Given the description of an element on the screen output the (x, y) to click on. 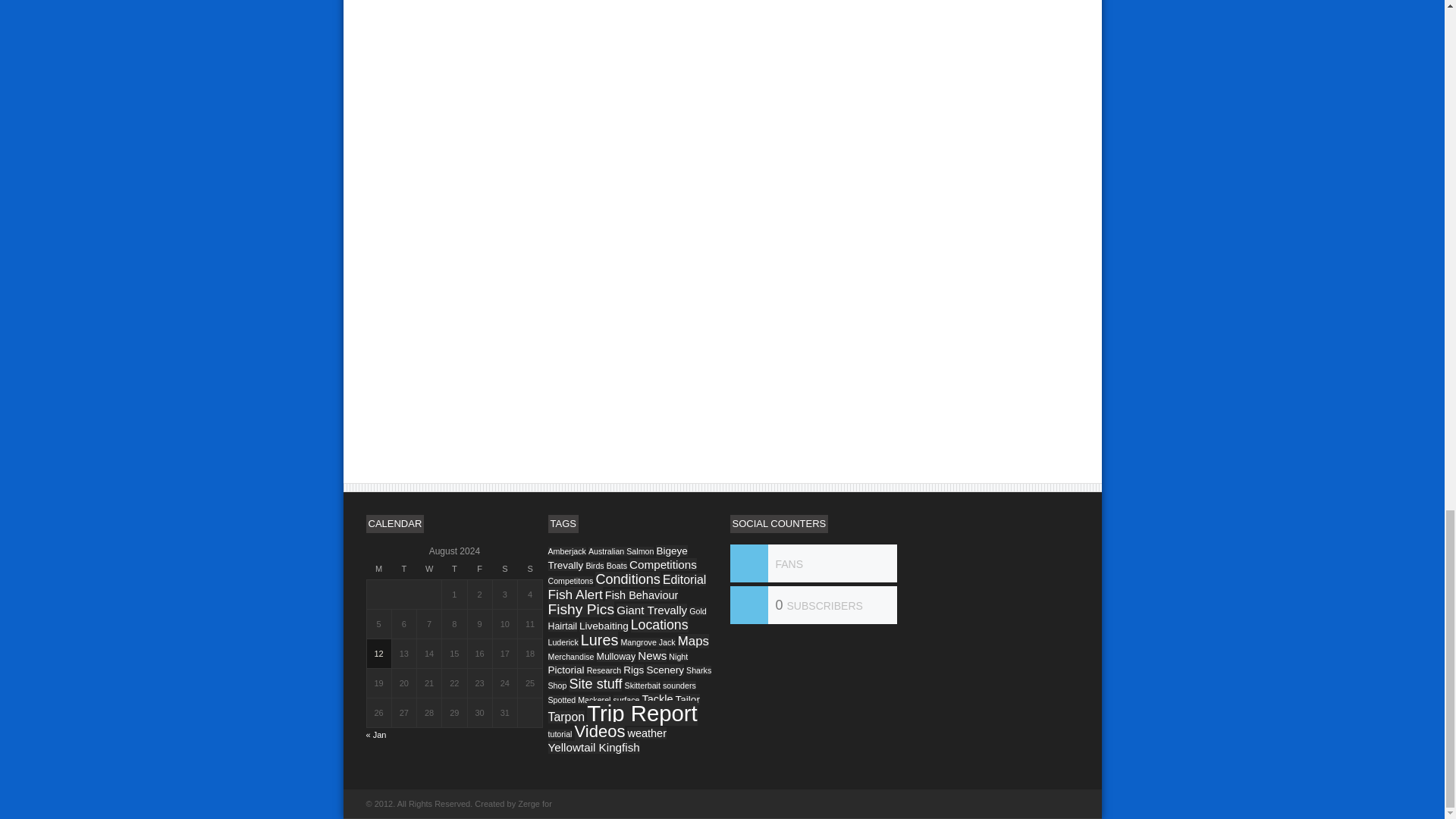
Sunday (528, 568)
Saturday (504, 568)
Tuesday (403, 568)
Friday (479, 568)
Monday (378, 568)
Wednesday (429, 568)
Thursday (454, 568)
